Given the description of an element on the screen output the (x, y) to click on. 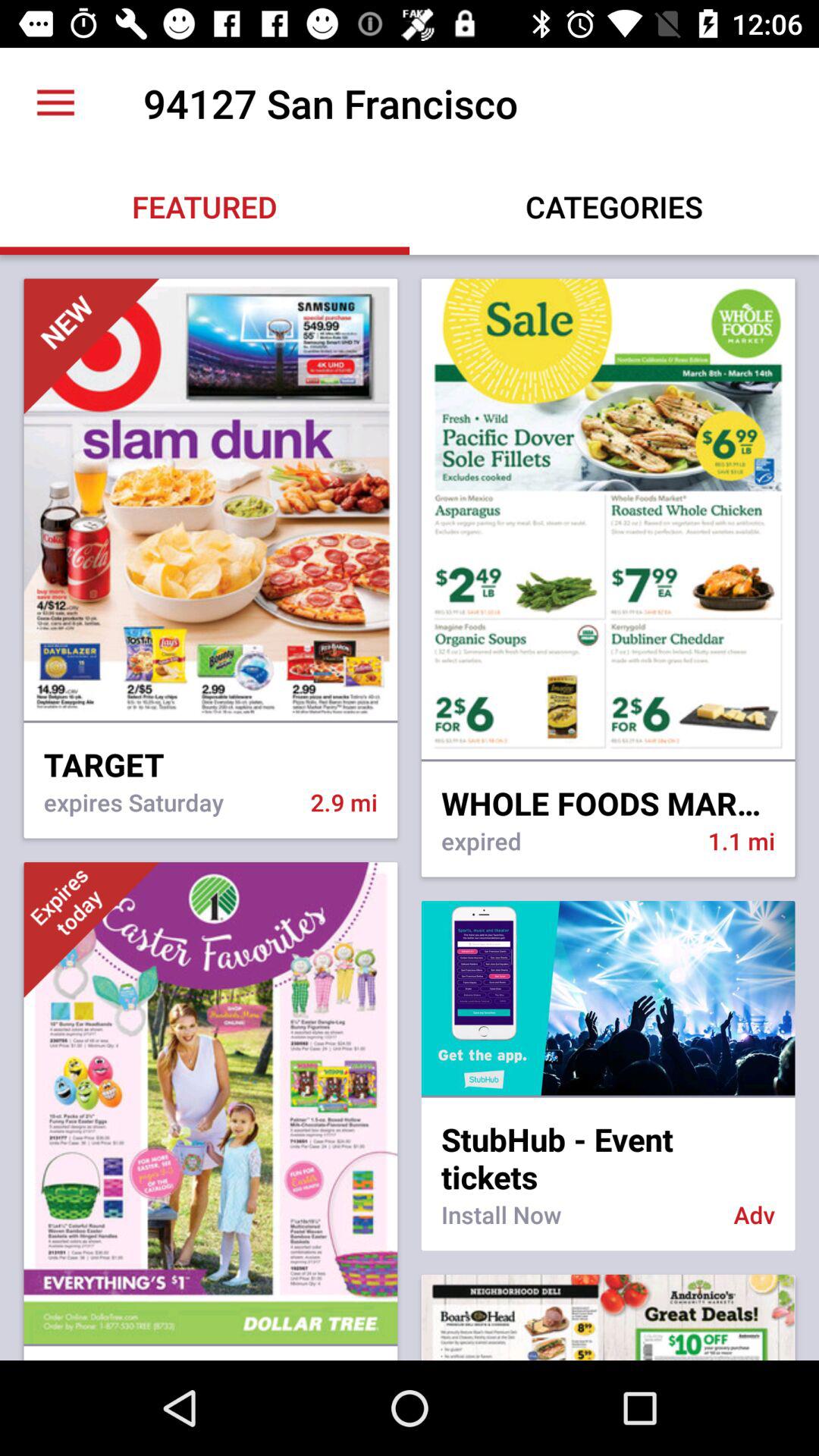
flip until the stubhub - event tickets item (608, 1147)
